Given the description of an element on the screen output the (x, y) to click on. 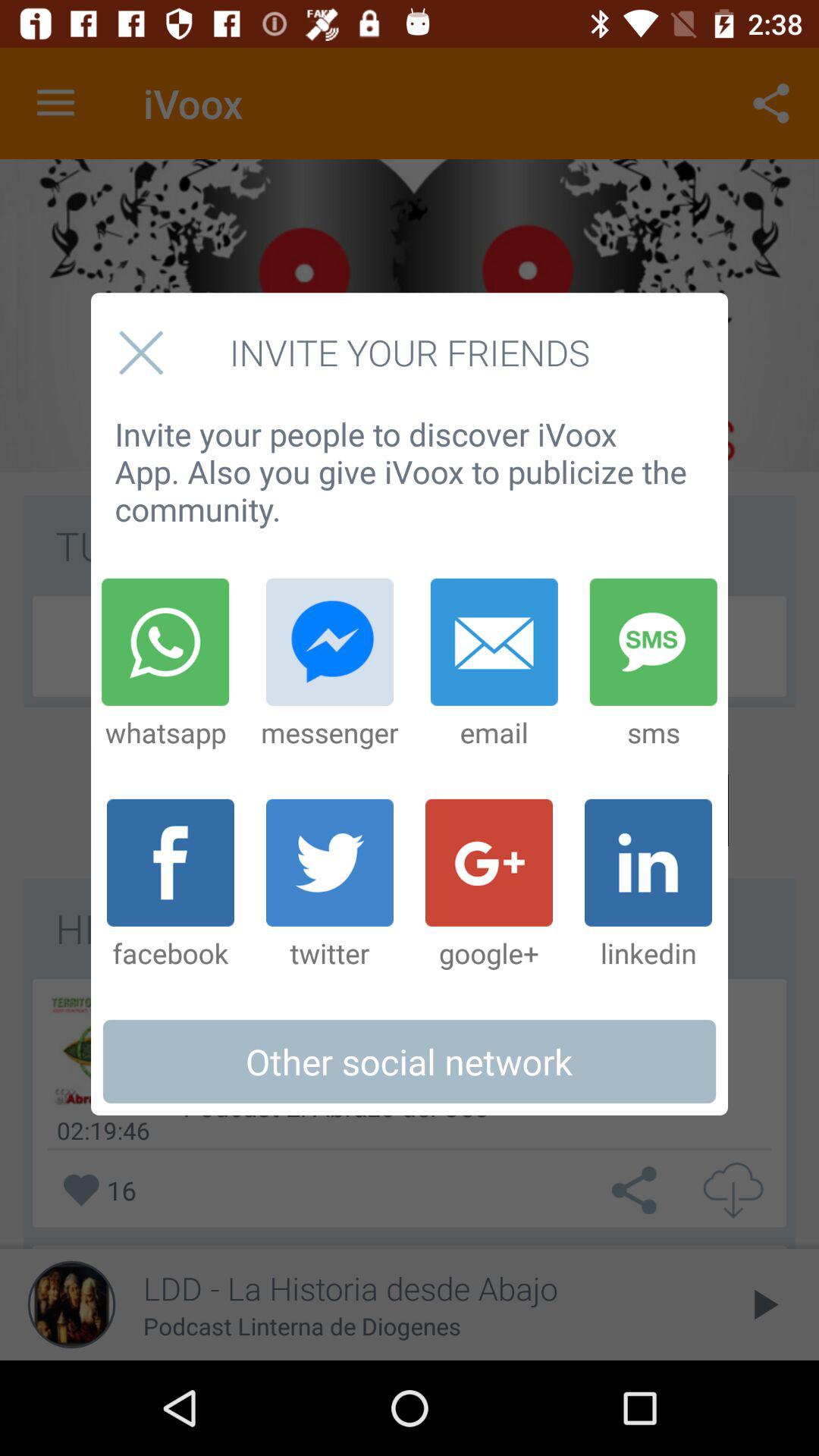
click item next to linkedin icon (488, 885)
